Given the description of an element on the screen output the (x, y) to click on. 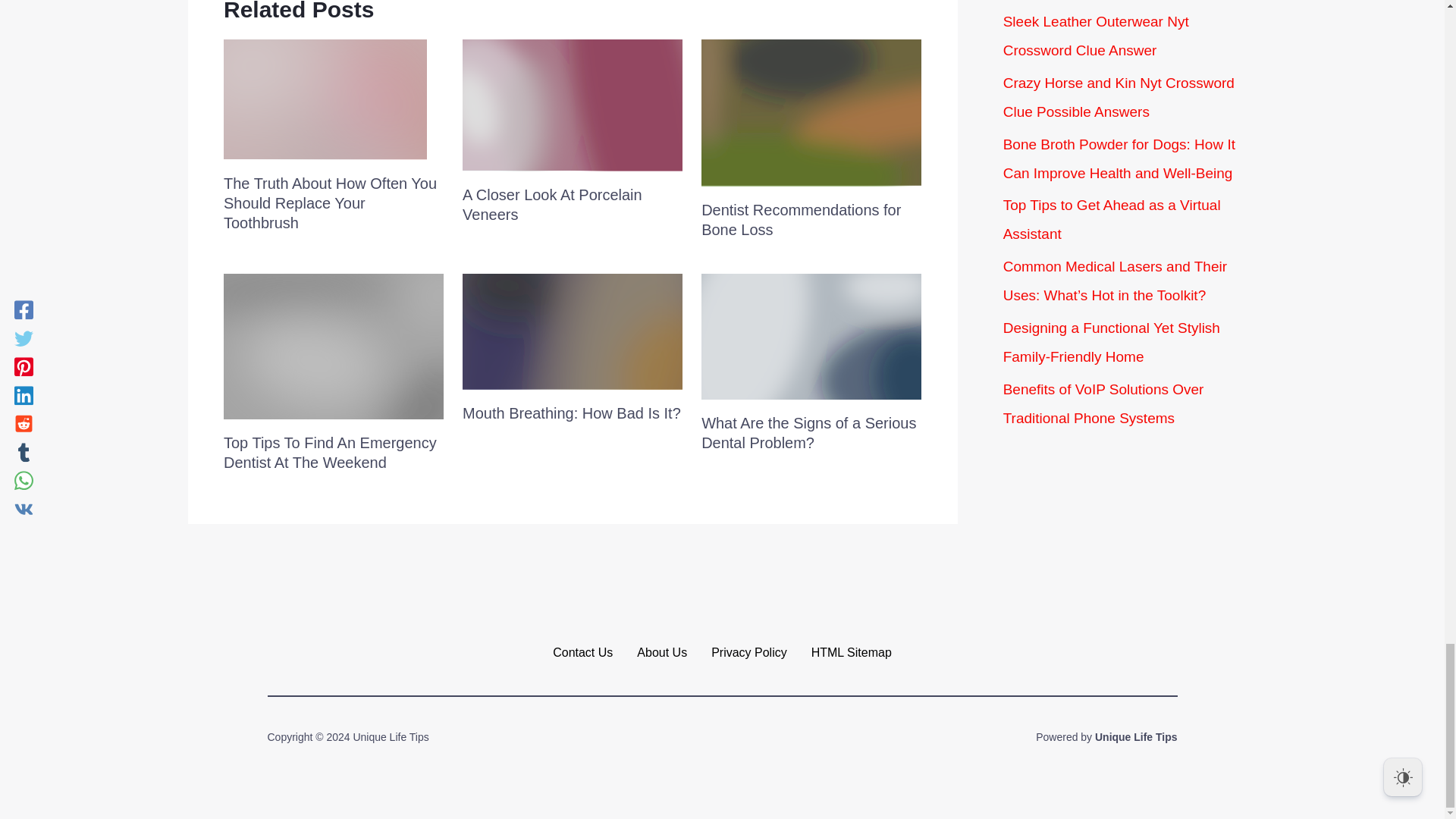
dentist 998830 340 (811, 112)
dentist 2530990 340 11zon (334, 346)
FotoJet 2022 08 11T145546 compressed 1 (325, 99)
istockphoto 1225328904 612x612 1 (572, 331)
istockphoto 1169381226 (572, 105)
11zon cropped 95 11zon (811, 336)
